Given the description of an element on the screen output the (x, y) to click on. 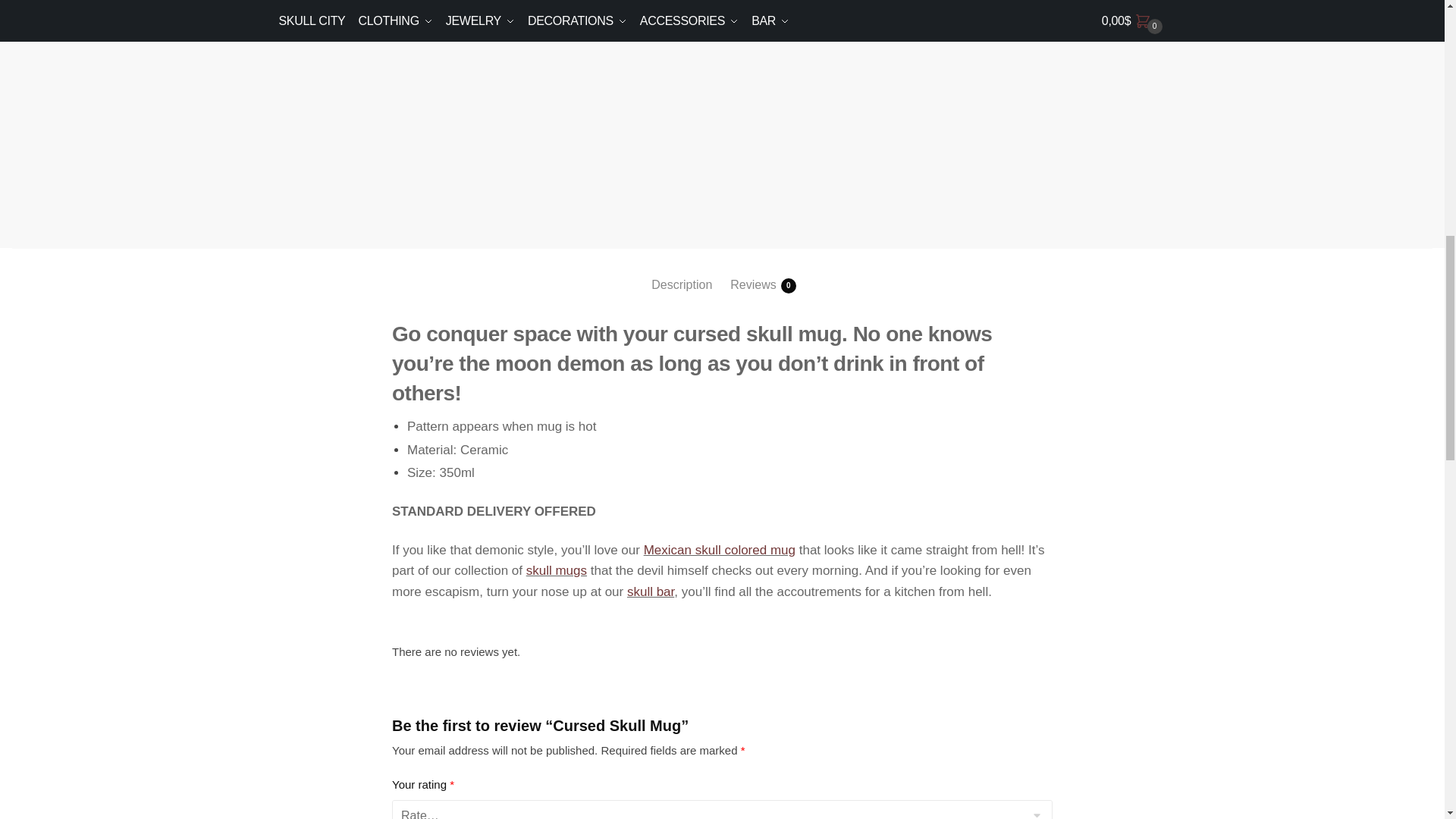
skull mugs (555, 570)
skull bar (650, 591)
Mexican skull colored mug (718, 549)
